Given the description of an element on the screen output the (x, y) to click on. 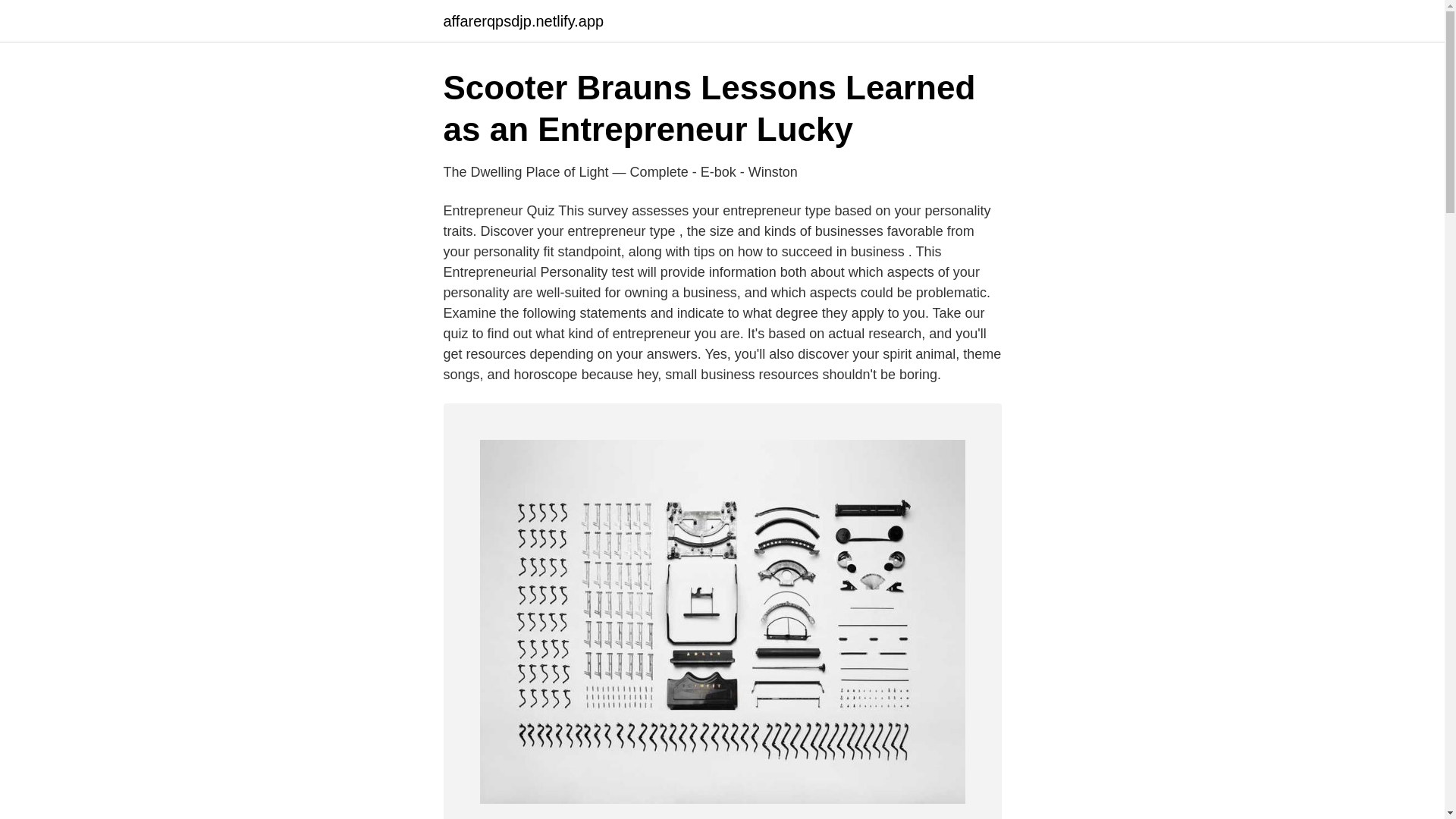
affarerqpsdjp.netlify.app (523, 20)
